Given the description of an element on the screen output the (x, y) to click on. 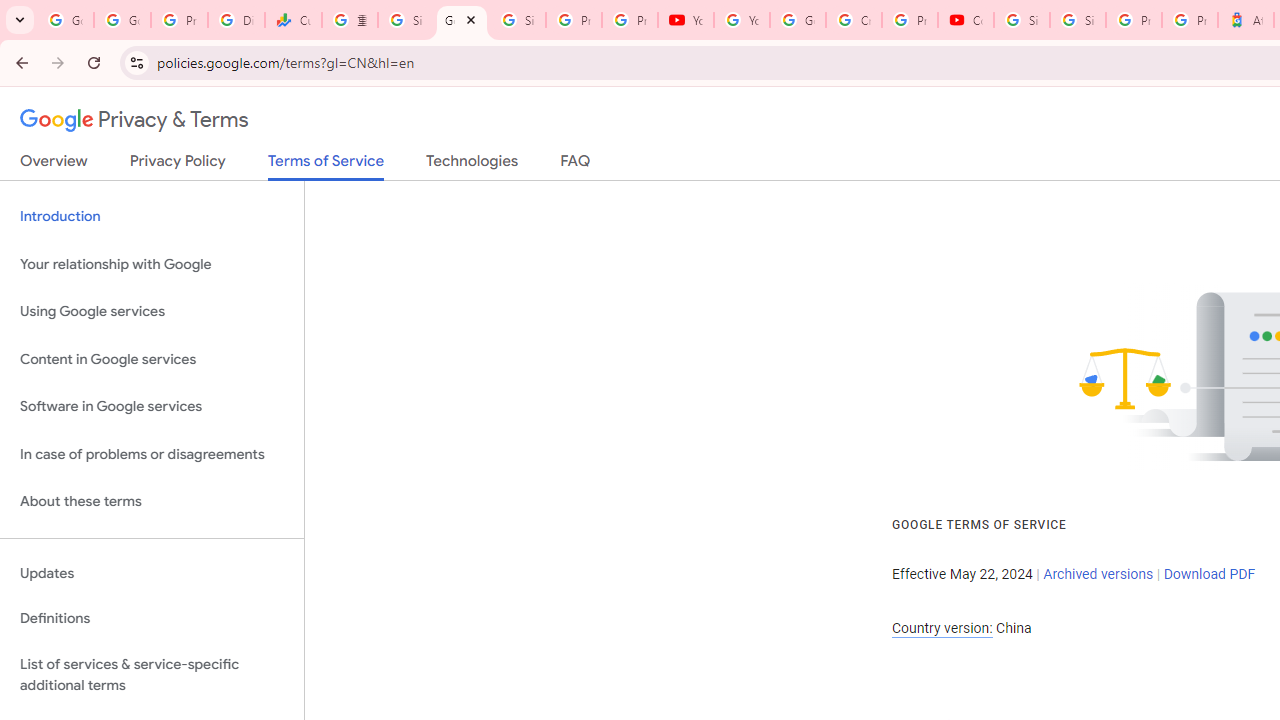
Updates (152, 573)
Technologies (472, 165)
About these terms (152, 502)
Terms of Service (326, 166)
Content in Google services (152, 358)
Sign in - Google Accounts (405, 20)
Software in Google services (152, 407)
Using Google services (152, 312)
